Given the description of an element on the screen output the (x, y) to click on. 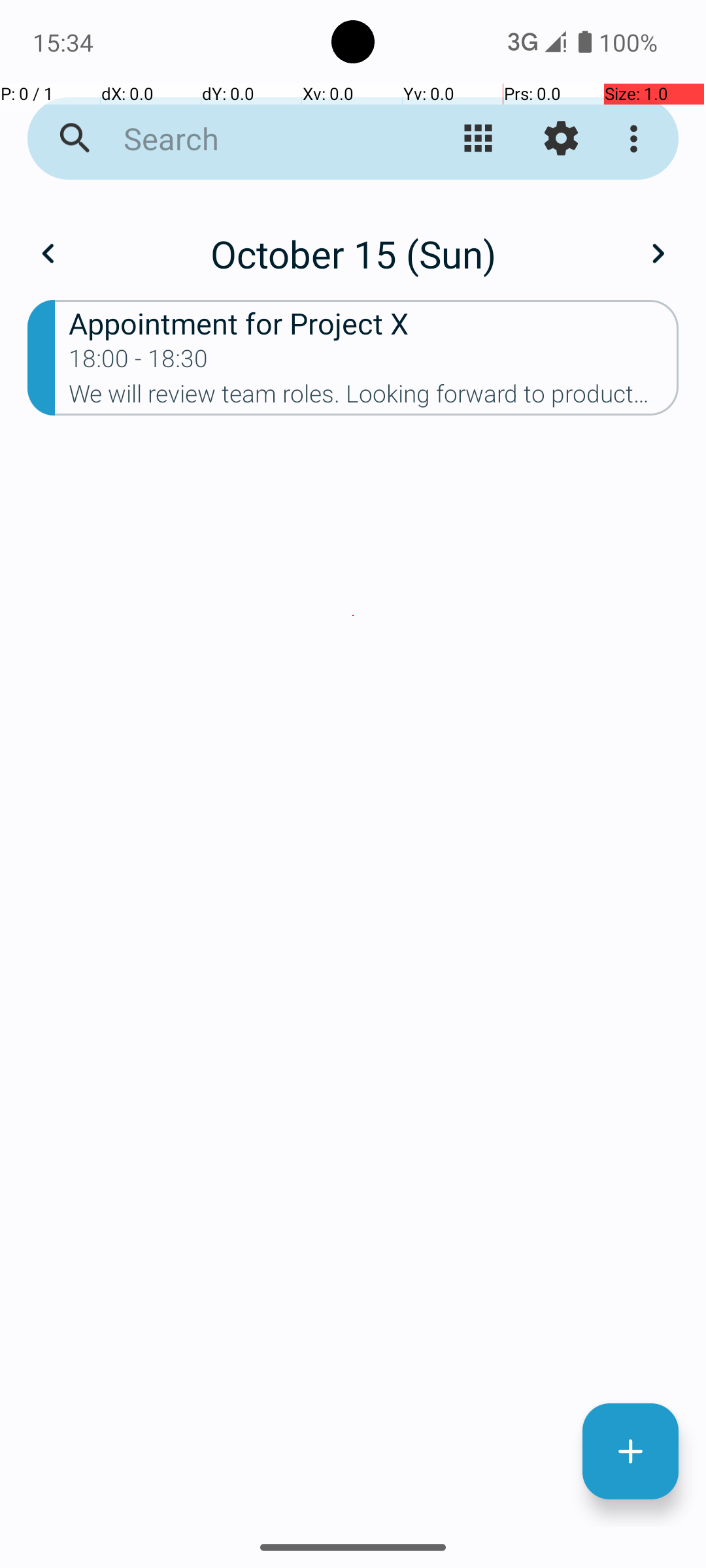
Appointment for Project X Element type: android.widget.TextView (373, 321)
18:00 - 18:30 Element type: android.widget.TextView (137, 362)
We will review team roles. Looking forward to productive discussions. Element type: android.widget.TextView (373, 397)
